Given the description of an element on the screen output the (x, y) to click on. 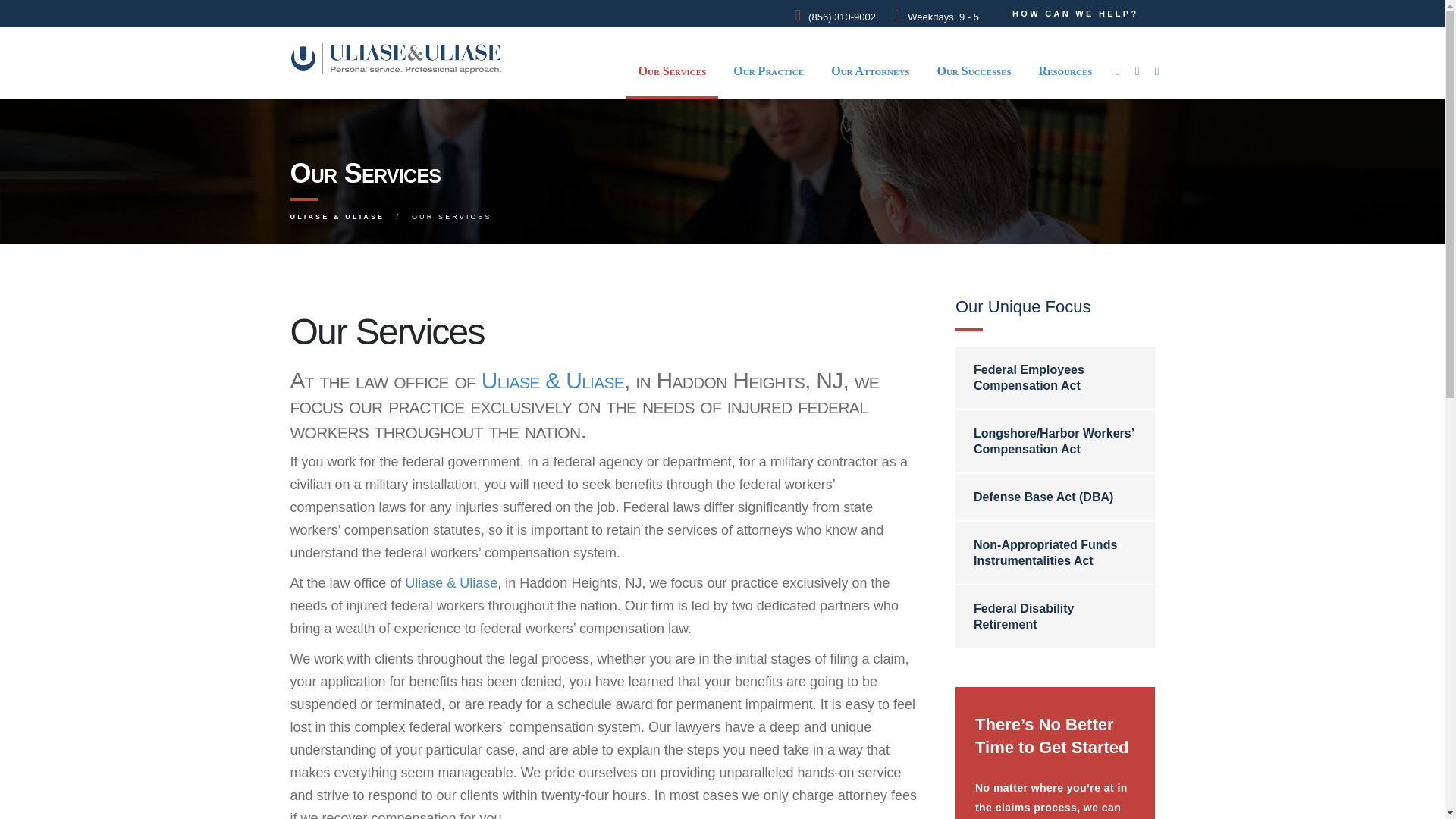
Our Services (671, 70)
Our Attorneys (870, 70)
Our Services (671, 70)
Our Practice (768, 70)
Our Successes (973, 70)
Resources (1064, 70)
Our Practice (768, 70)
HOW CAN WE HELP? (1074, 13)
